Given the description of an element on the screen output the (x, y) to click on. 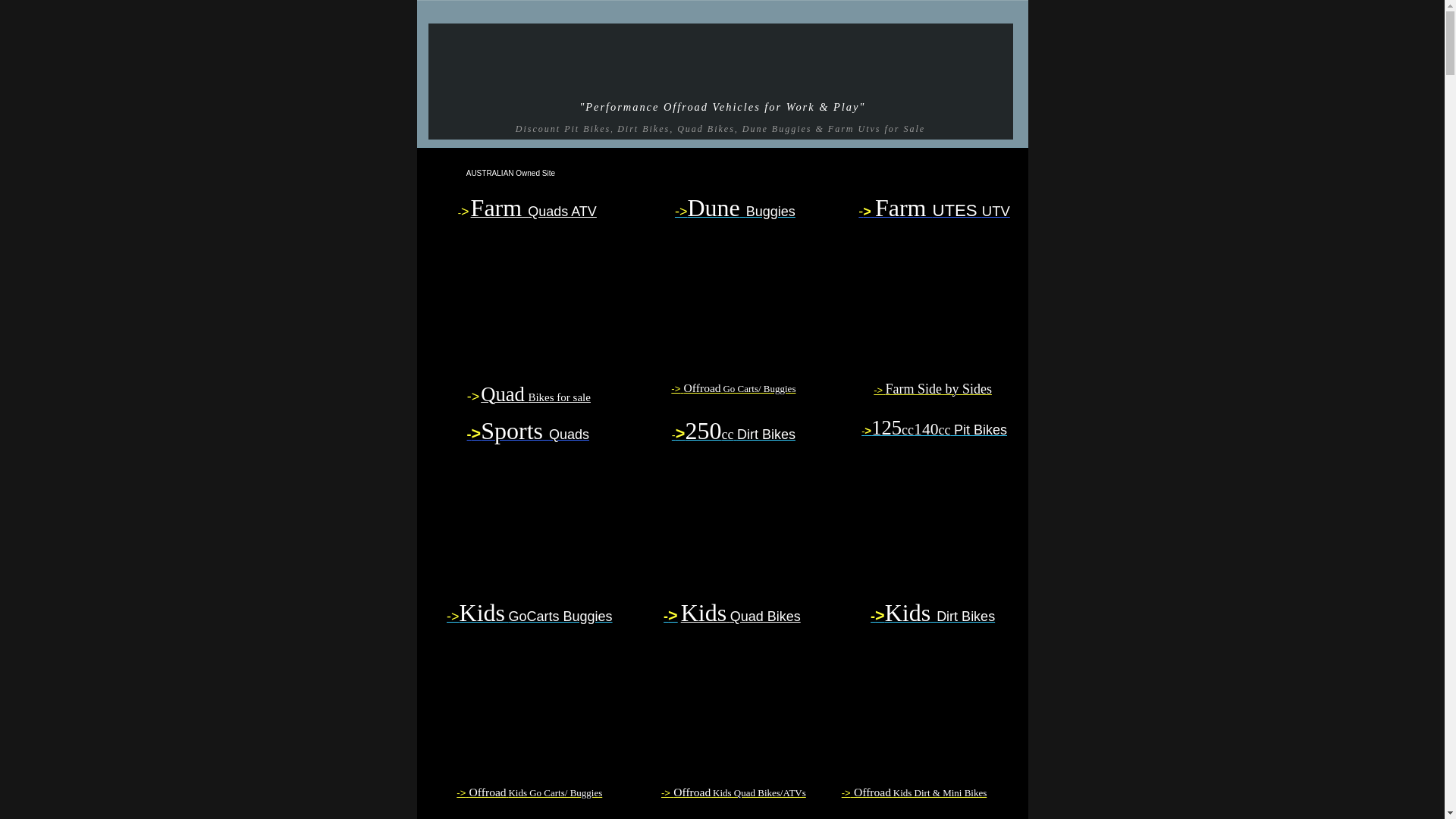
-> Offroad Kids Go Carts/ Buggies Element type: text (529, 792)
->125cc140cc Pit Bikes Element type: text (933, 429)
-> Offroad Kids Dirt & Mini Bikes Element type: text (914, 792)
->250cc Dirt Bikes Element type: text (733, 434)
->Dune Buggies Element type: text (735, 211)
->Kids GoCarts Buggies Element type: text (529, 616)
-> Offroad Go Carts/ Buggies Element type: text (733, 388)
Quad Bikes for sale Element type: text (535, 396)
Farm Quads ATV Element type: text (533, 211)
Kids Quad Bikes Element type: text (740, 616)
-> Farm UTES UTV Element type: text (933, 211)
->Sports Quads Element type: text (527, 434)
->Kids Dirt Bikes Element type: text (932, 616)
-> Farm Side by Sides Element type: text (932, 389)
-> Element type: text (670, 617)
-> Offroad Kids Quad Bikes/ATVs Element type: text (733, 792)
